Given the description of an element on the screen output the (x, y) to click on. 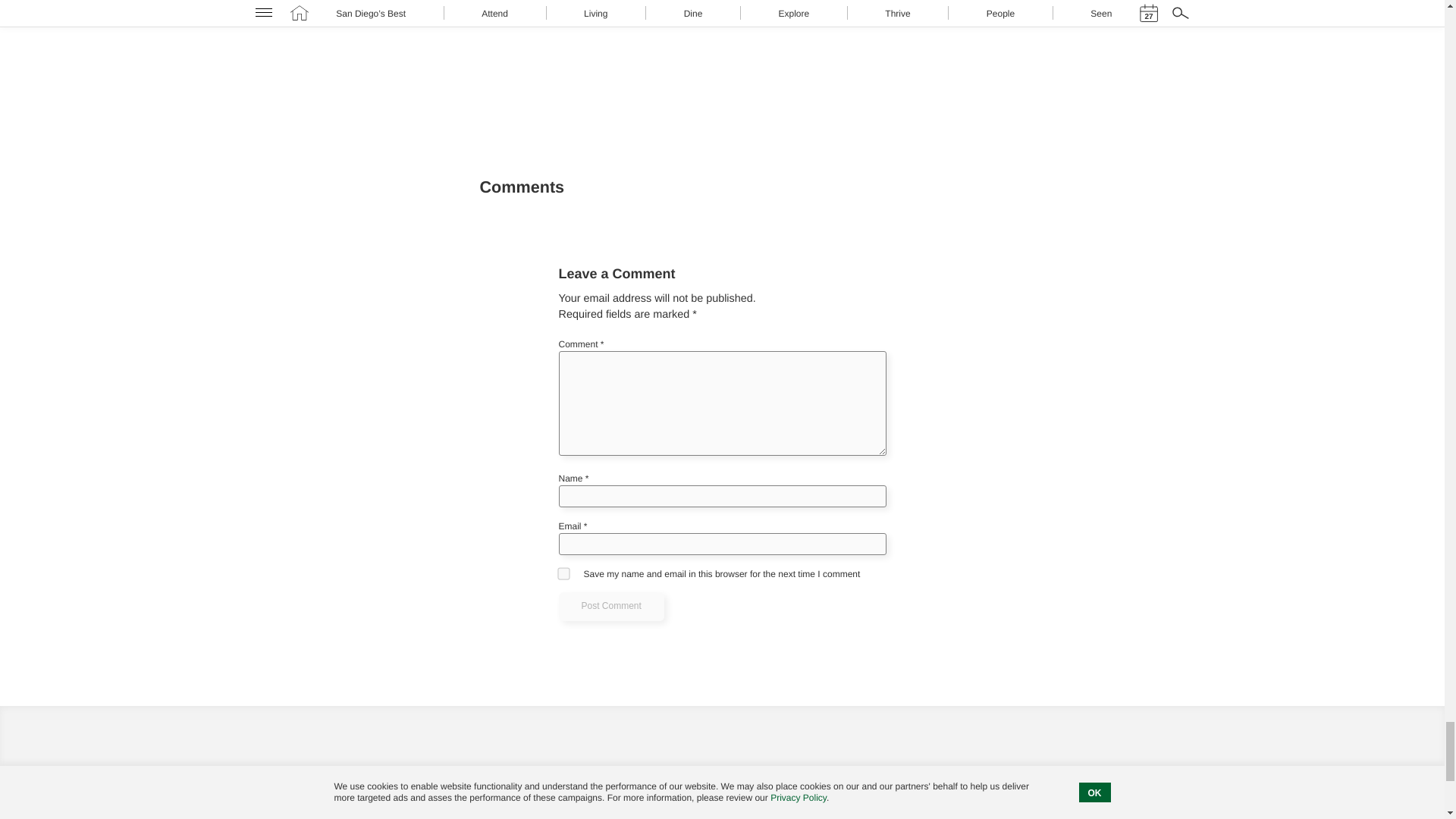
Post Comment (610, 606)
on (562, 573)
